Given the description of an element on the screen output the (x, y) to click on. 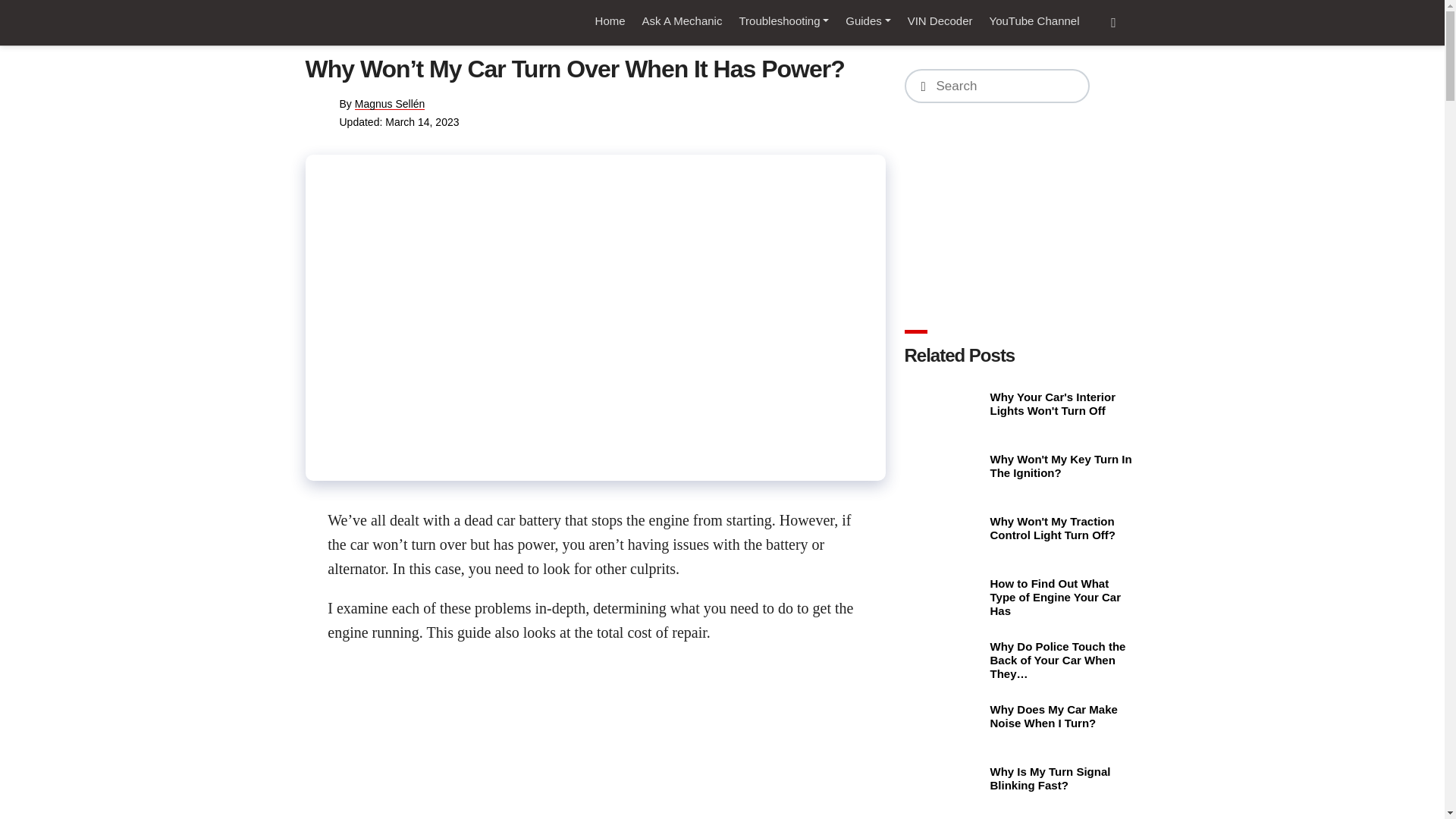
VIN Decoder (940, 20)
Why Your Car's Interior Lights Won't Turn Off (944, 409)
Guides (867, 20)
Home (609, 20)
How to Find Out What Type of Engine Your Car Has (944, 595)
Why Is My Turn Signal Blinking Fast? (944, 783)
YouTube Channel (1034, 20)
YouTube Channel (1034, 20)
Why Won't My Traction Control Light Turn Off? (944, 533)
